Given the description of an element on the screen output the (x, y) to click on. 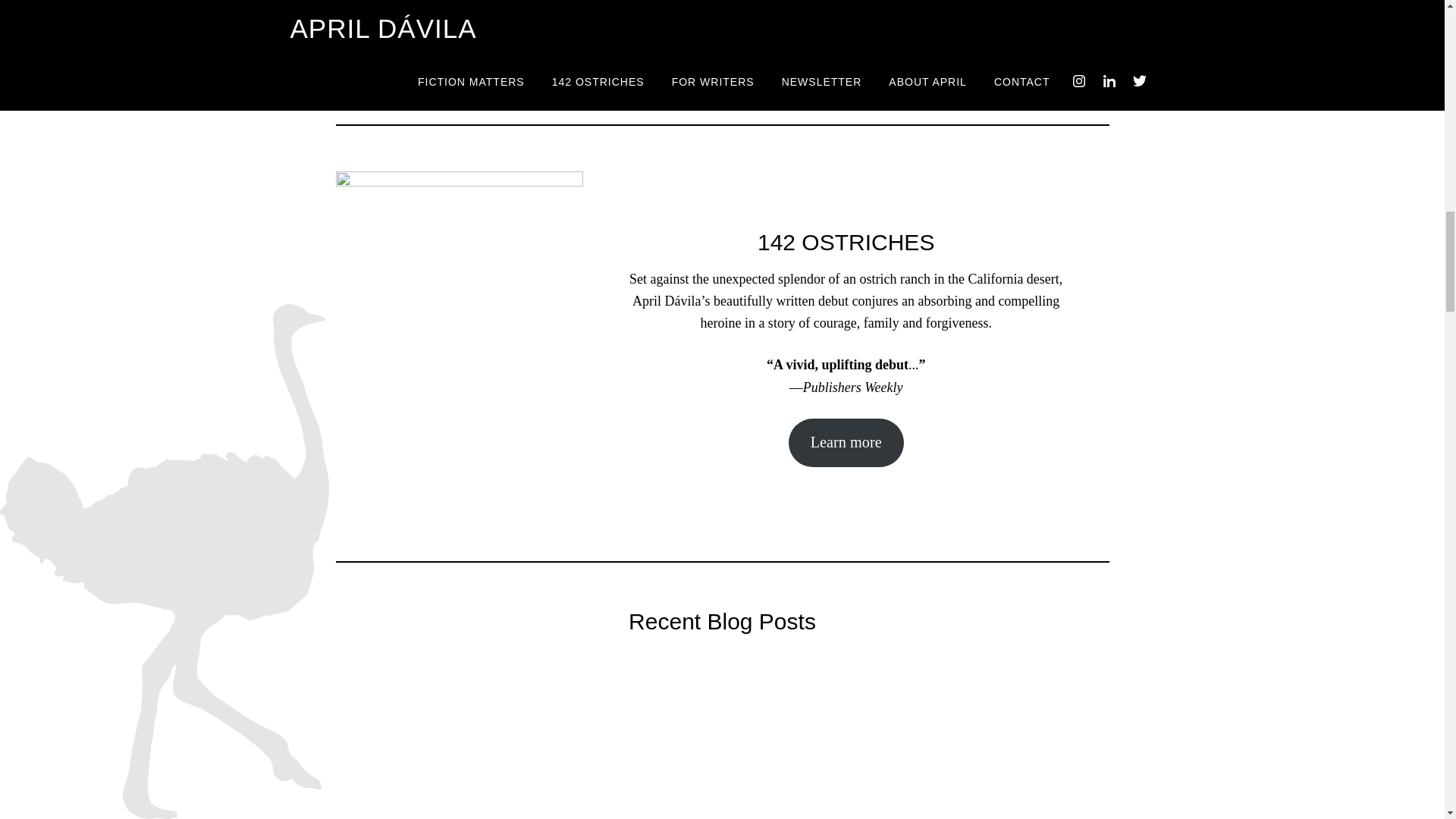
Learn More (464, 15)
Learn more (846, 442)
Learn More (722, 16)
Learn More (979, 15)
